Given the description of an element on the screen output the (x, y) to click on. 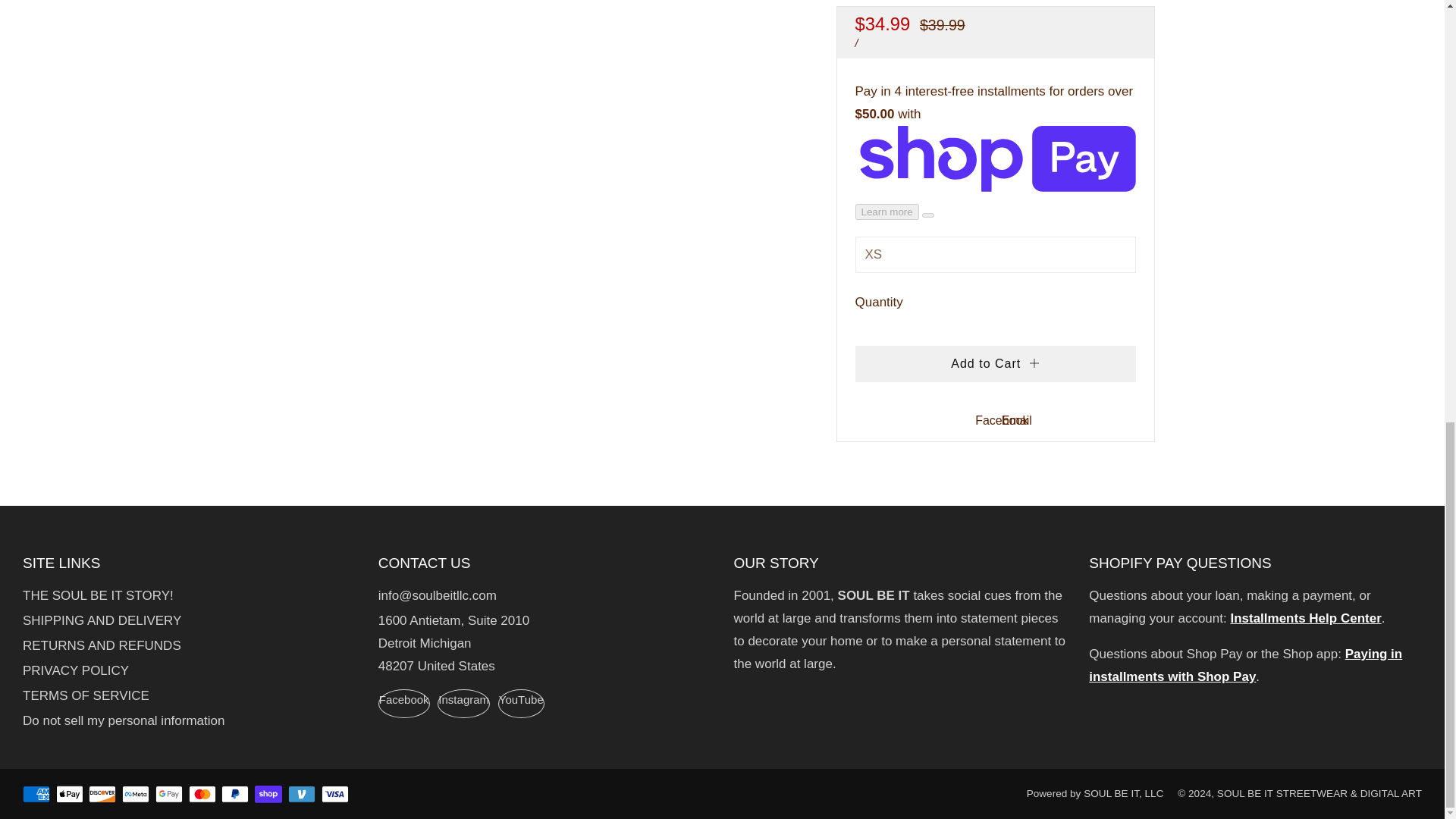
RETURNS AND REFUNDS (101, 645)
SHIPPING AND DELIVERY (101, 620)
PRIVACY POLICY (76, 670)
THE SOUL BE IT STORY! (98, 595)
